Given the description of an element on the screen output the (x, y) to click on. 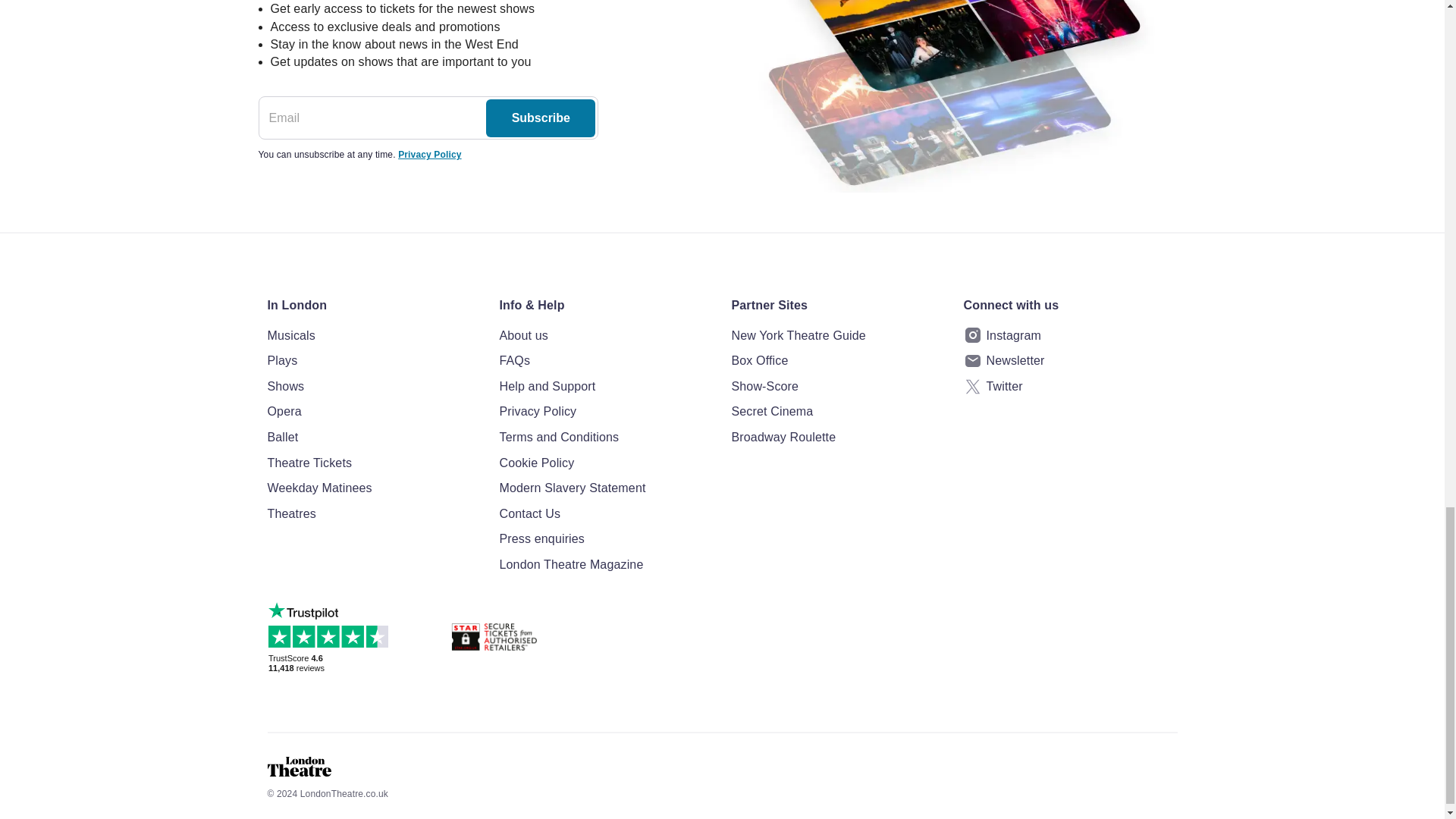
Musicals (373, 335)
About us (606, 335)
Theatres (373, 514)
FAQs (606, 361)
Opera (373, 411)
Plays (373, 361)
Ballet (373, 437)
Theatre Tickets (373, 463)
Weekday Matinees (373, 487)
Shows (373, 386)
